Given the description of an element on the screen output the (x, y) to click on. 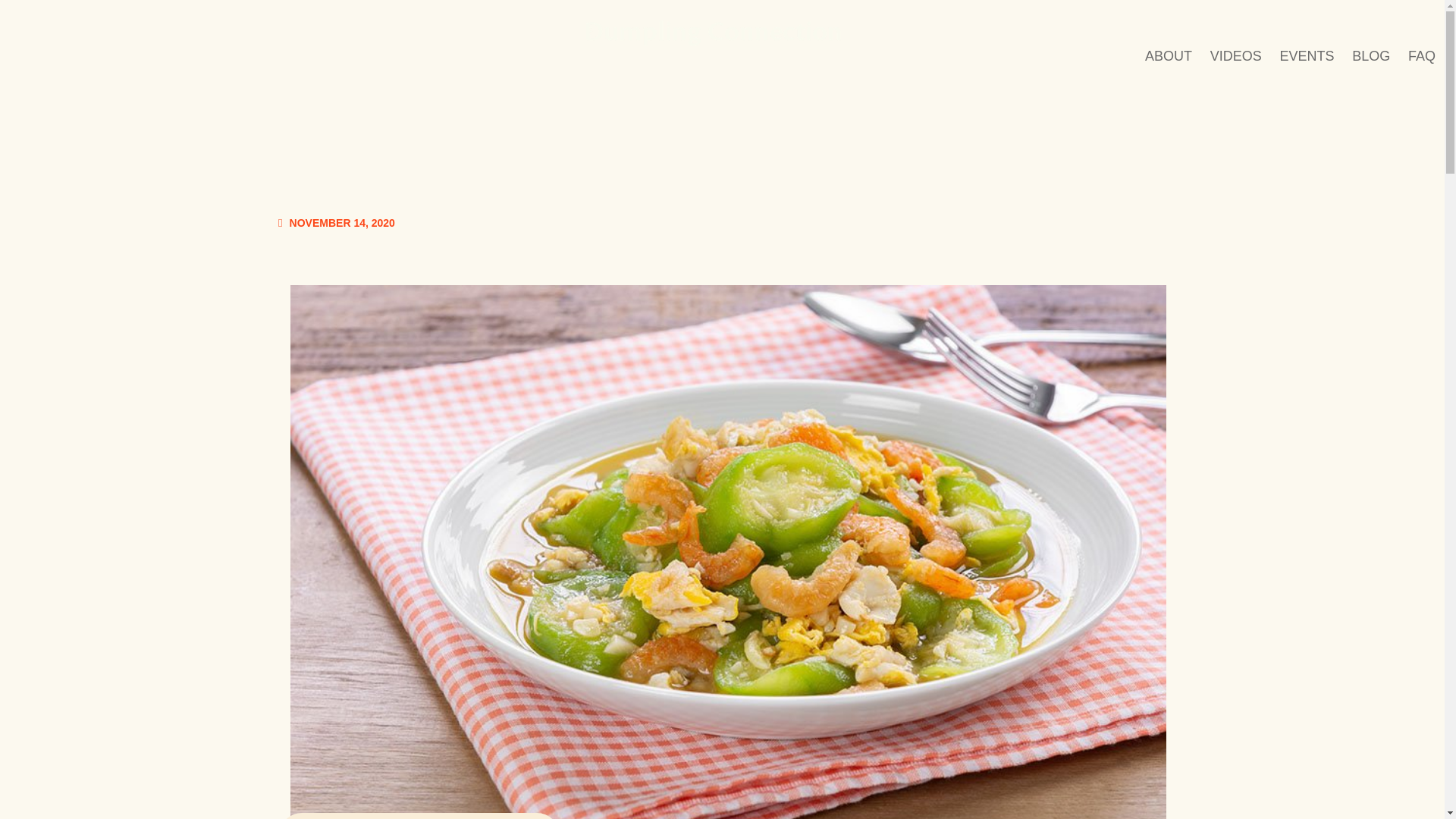
ABOUT (1168, 62)
NOVEMBER 14, 2020 (336, 223)
BLOG (1370, 62)
VIDEOS (1236, 62)
EVENTS (1307, 62)
